Given the description of an element on the screen output the (x, y) to click on. 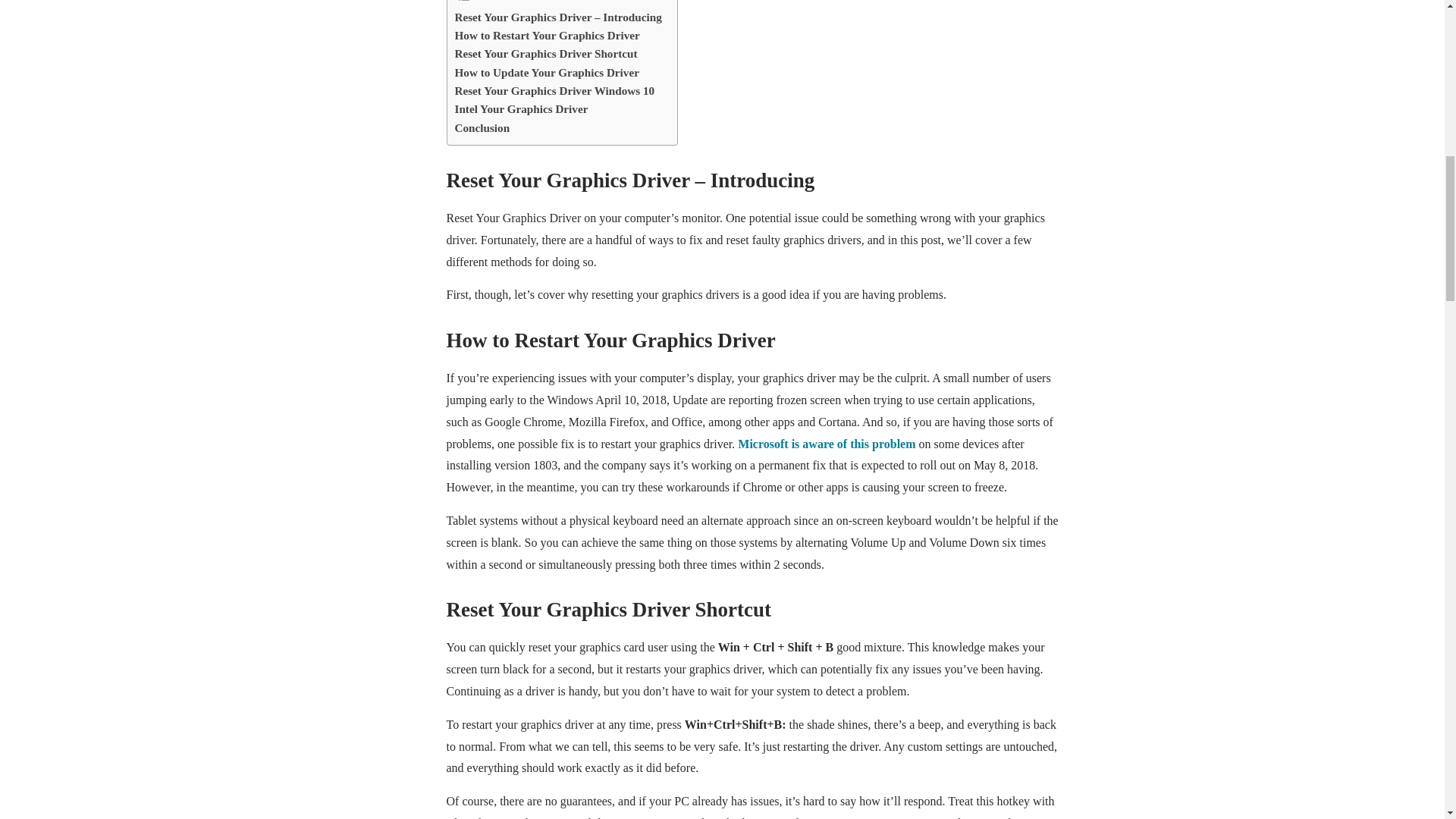
Conclusion (482, 127)
Intel Your Graphics Driver (521, 108)
Reset Your Graphics Driver Shortcut (545, 54)
How to Update Your Graphics Driver (546, 72)
How to Restart Your Graphics Driver (547, 35)
How to Update Your Graphics Driver (546, 72)
Reset Your Graphics Driver Windows 10 (554, 90)
How to Restart Your Graphics Driver (547, 35)
Reset Your Graphics Driver Shortcut (545, 54)
Reset Your Graphics Driver Windows 10 (554, 90)
